Given the description of an element on the screen output the (x, y) to click on. 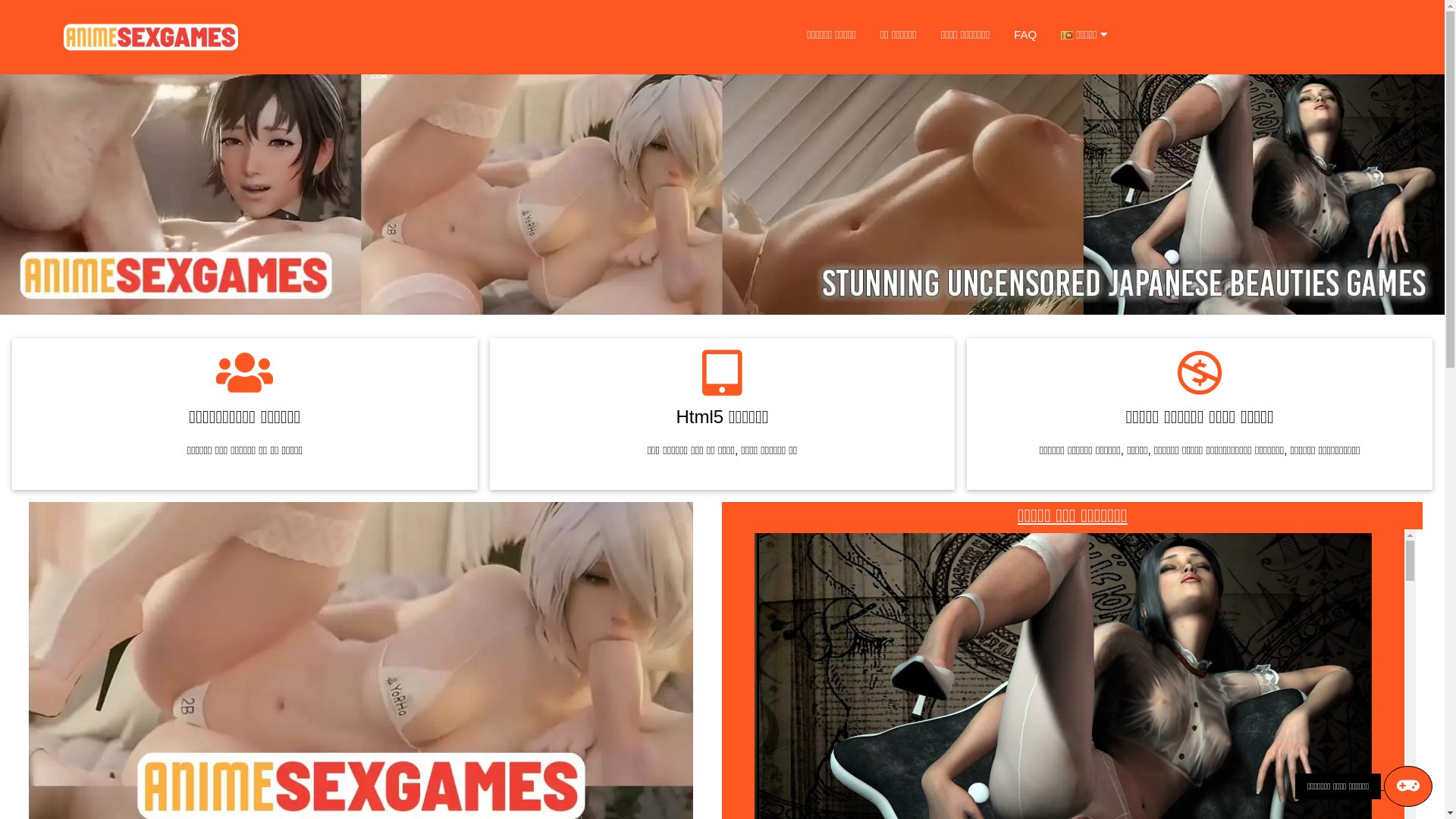
FAQ Element type: text (1024, 35)
